Given the description of an element on the screen output the (x, y) to click on. 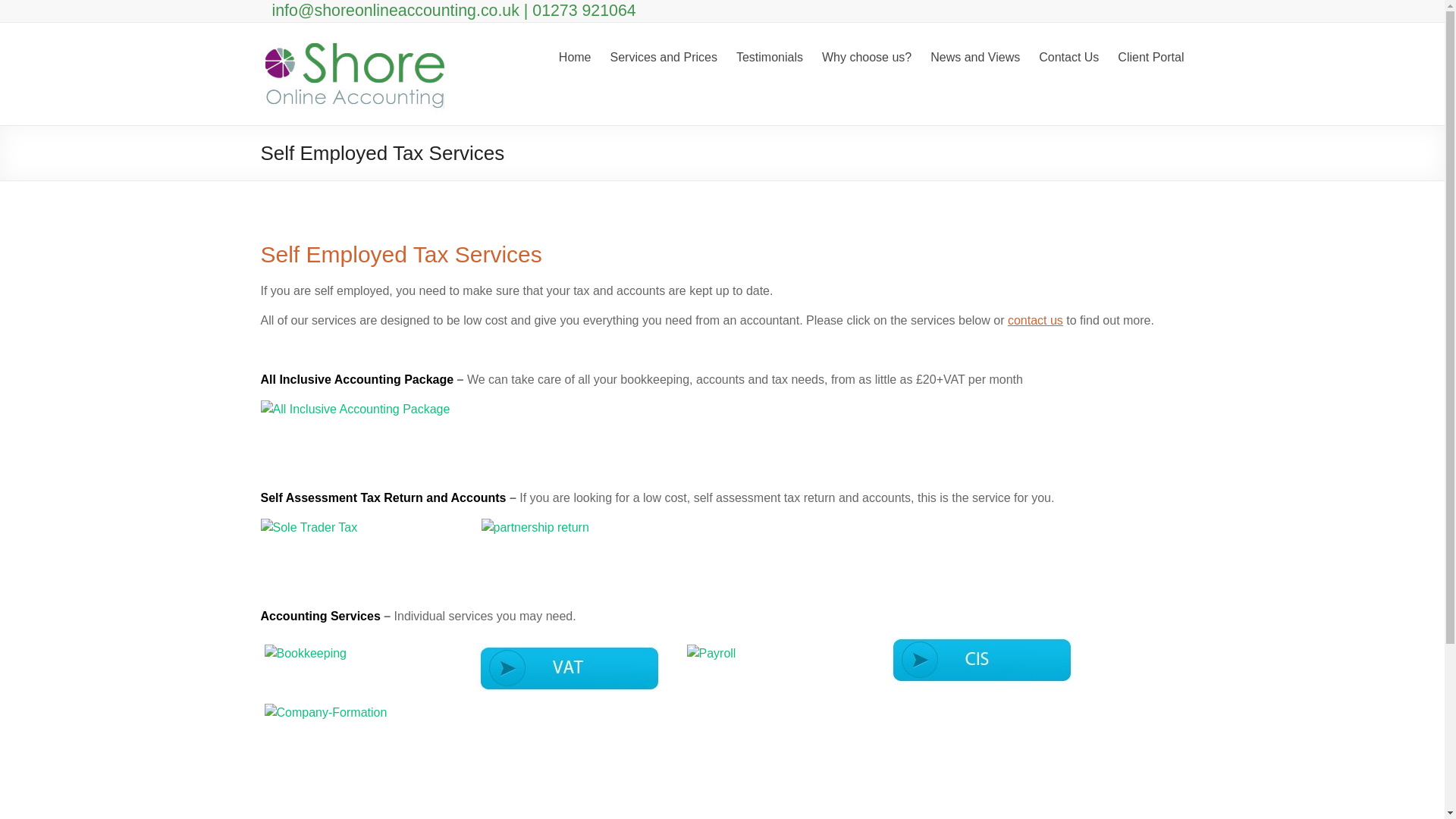
contact us (1034, 319)
Client Portal (1150, 54)
Why choose us? (866, 54)
Contact Us (1034, 319)
Contact Us (1069, 54)
Home (575, 54)
Testimonials (769, 54)
News and Views (975, 54)
Services and Prices (663, 54)
Shore Online Accounting (354, 41)
